Given the description of an element on the screen output the (x, y) to click on. 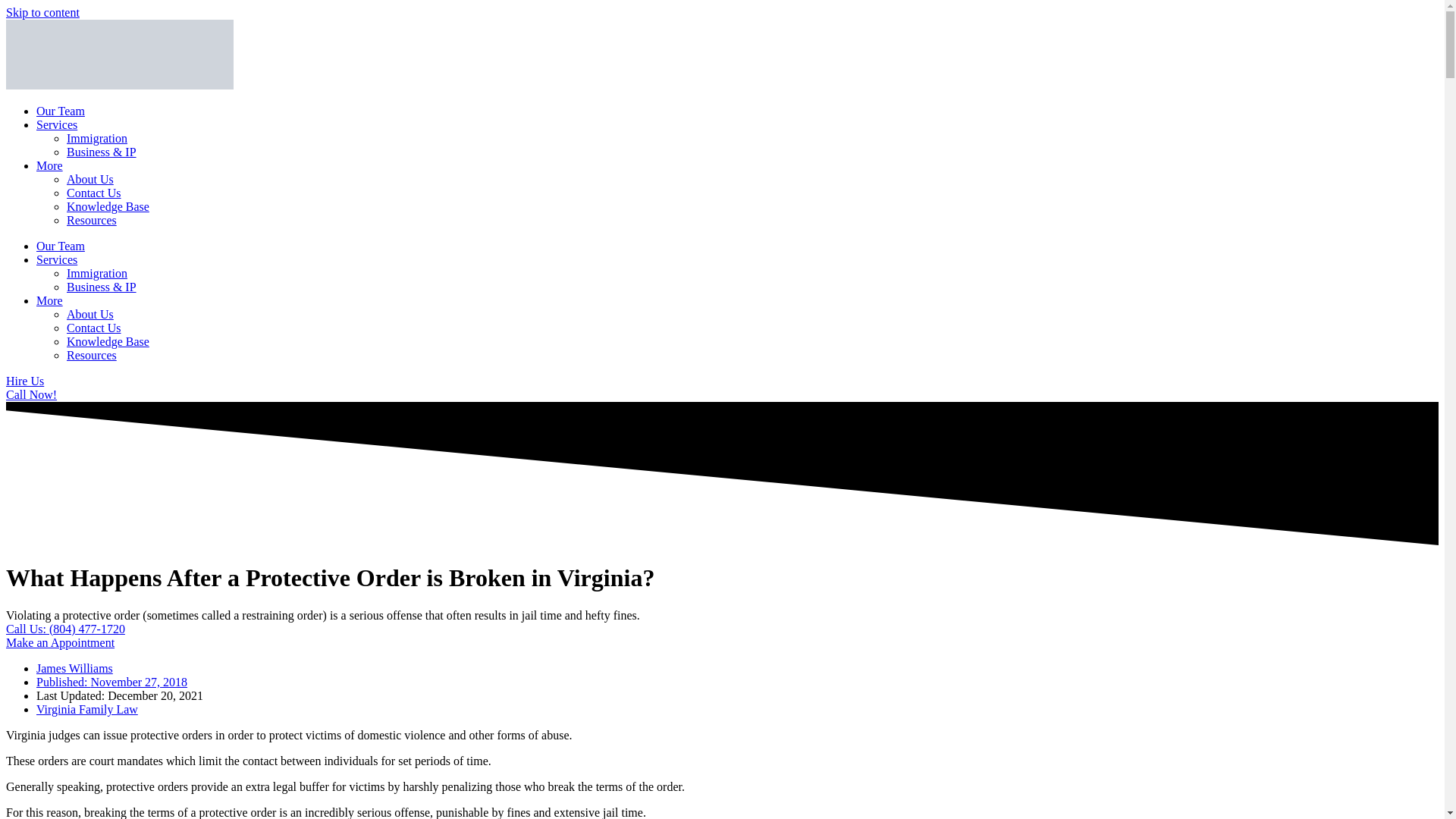
James Williams (74, 667)
Knowledge Base (107, 341)
Knowledge Base (107, 205)
Our Team (60, 245)
Contact Us (93, 192)
Immigration (97, 273)
Call Now! (30, 394)
Hire Us (24, 380)
Immigration (97, 137)
Make an Appointment (60, 642)
Contact Us (93, 327)
Resources (91, 354)
About Us (89, 178)
Our Team (60, 110)
Skip to content (42, 11)
